Given the description of an element on the screen output the (x, y) to click on. 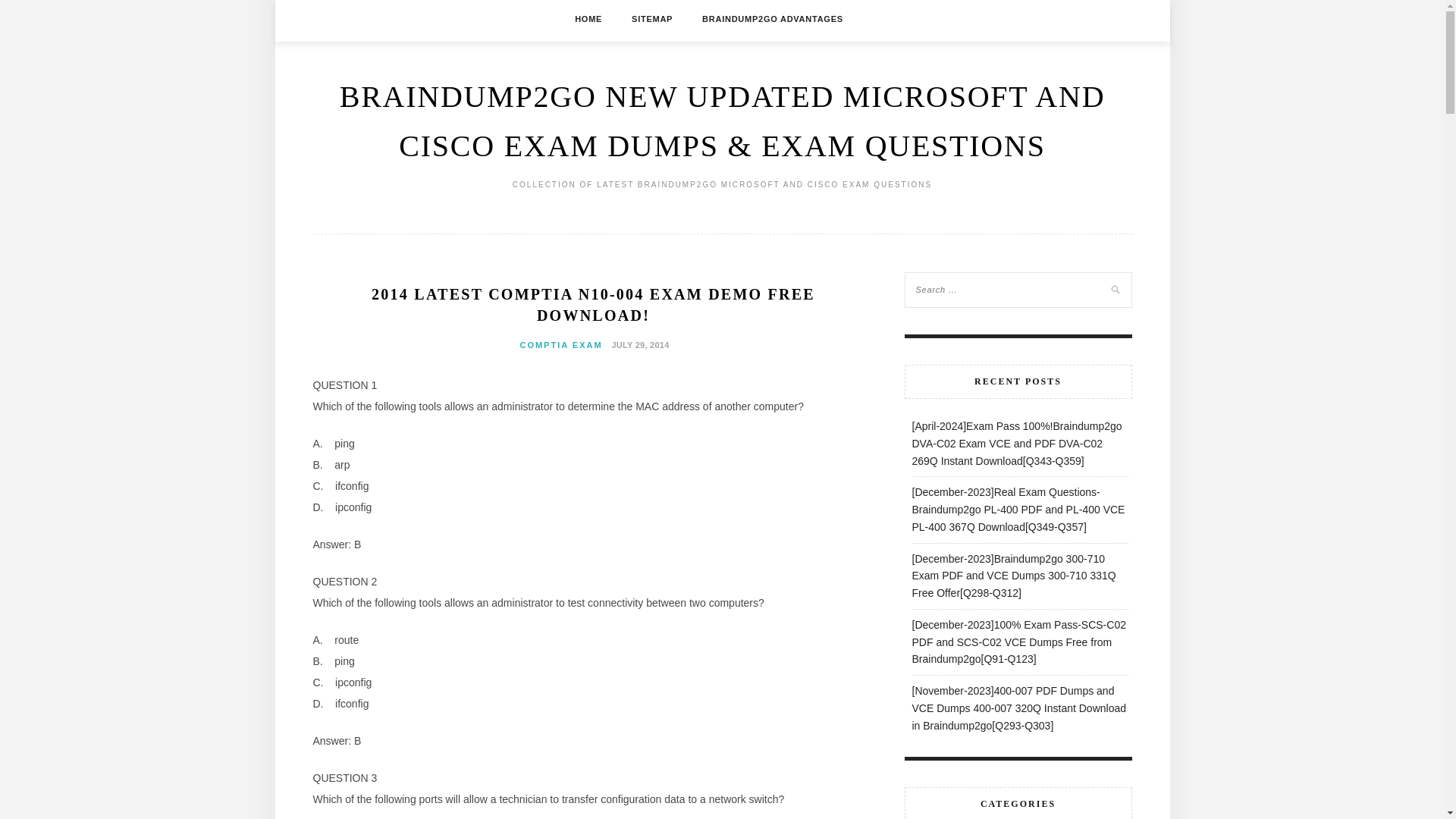
COMPTIA EXAM (560, 344)
SITEMAP (651, 18)
JULY 29, 2014 (638, 344)
BRAINDUMP2GO ADVANTAGES (772, 18)
Search (28, 11)
